Given the description of an element on the screen output the (x, y) to click on. 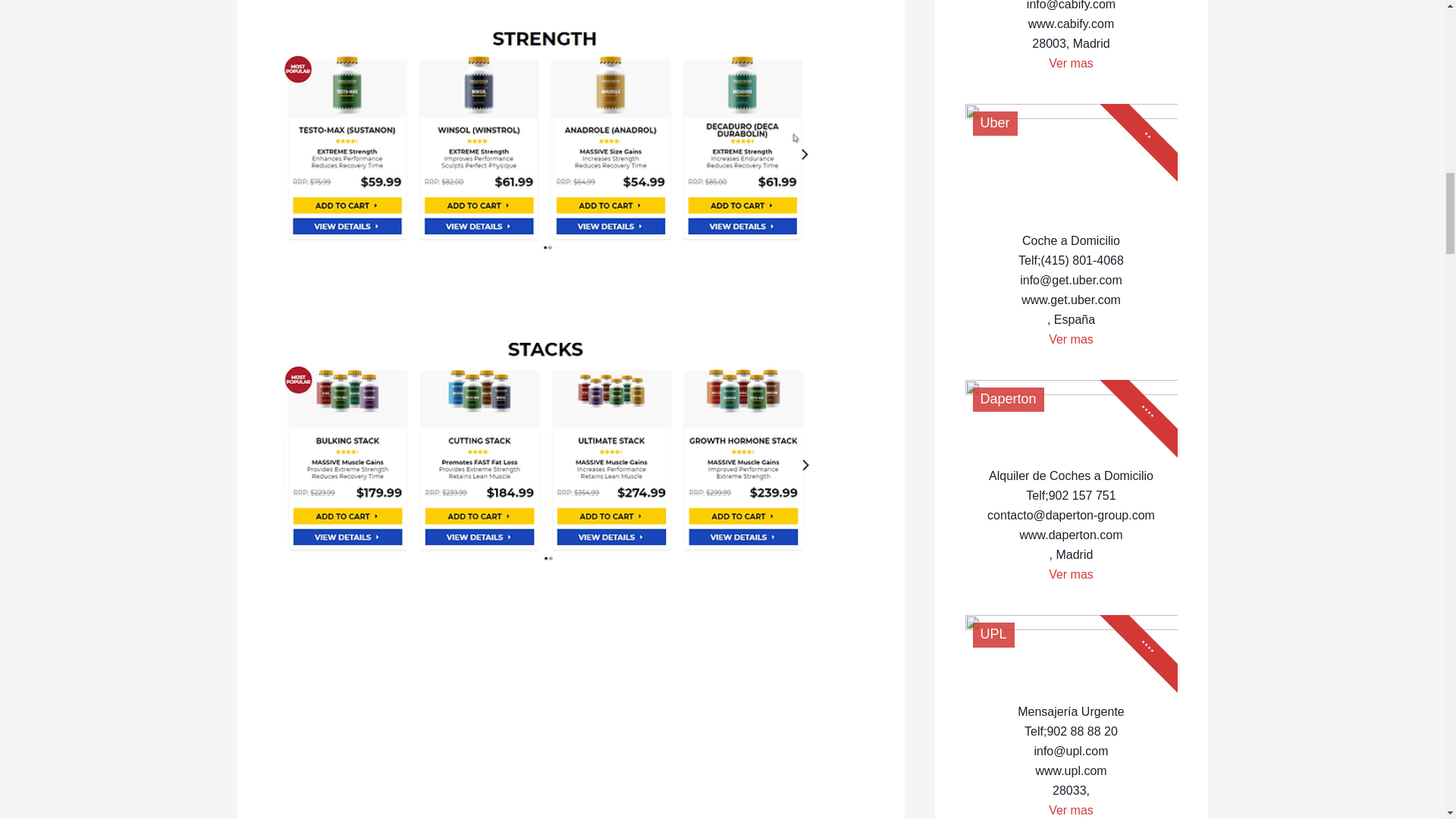
anabolic for steroids alternatives (547, 446)
steroids for alternatives anabolic (547, 136)
